Given the description of an element on the screen output the (x, y) to click on. 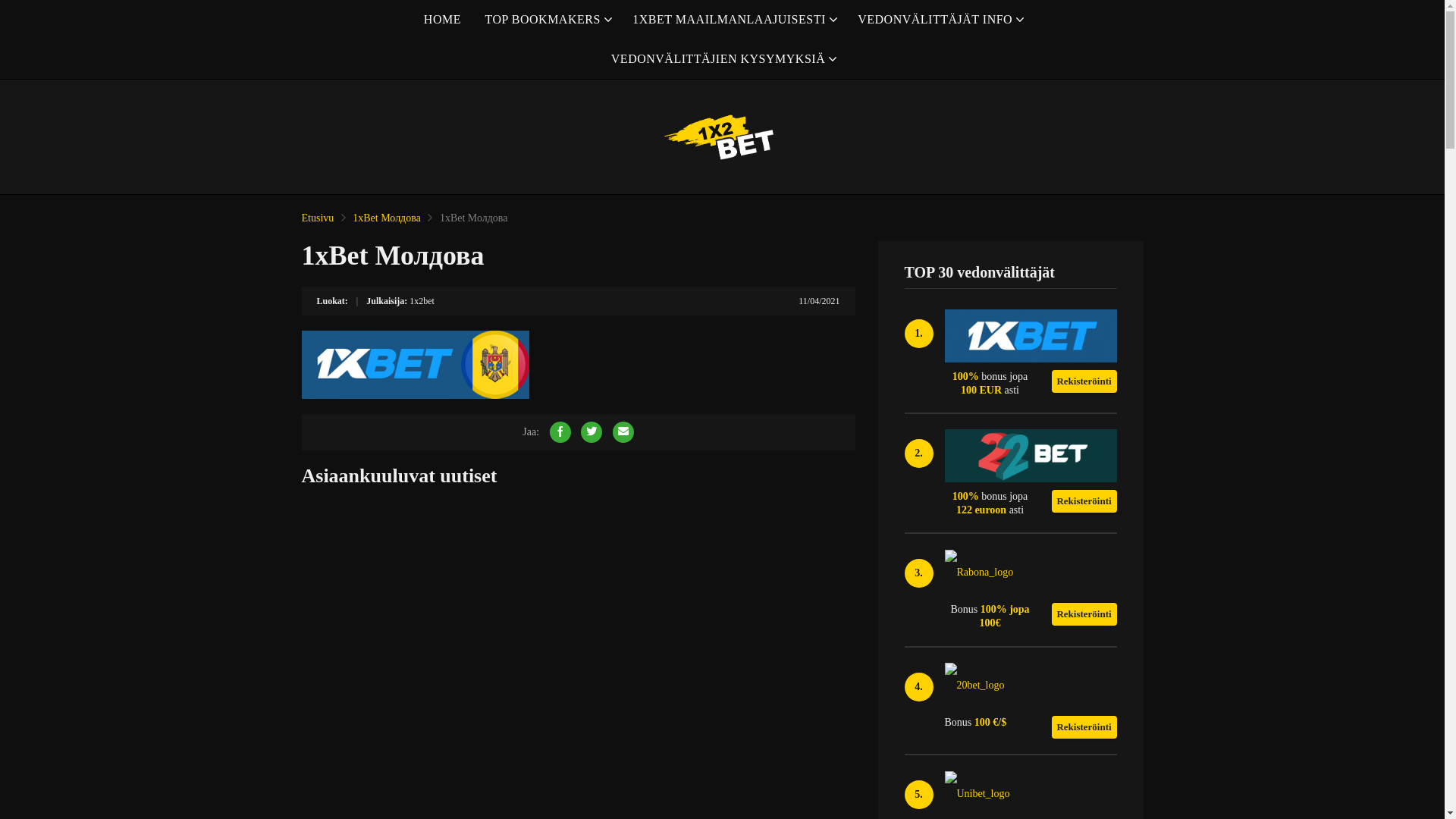
Share by email Element type: hover (622, 431)
Share on Facebook Element type: hover (560, 431)
TOP BOOKMAKERS Element type: text (546, 19)
HOME Element type: text (442, 19)
Etusivu Element type: text (317, 217)
1XBET MAAILMANLAAJUISESTI Element type: text (732, 19)
Share on Twitter Element type: hover (591, 431)
